Given the description of an element on the screen output the (x, y) to click on. 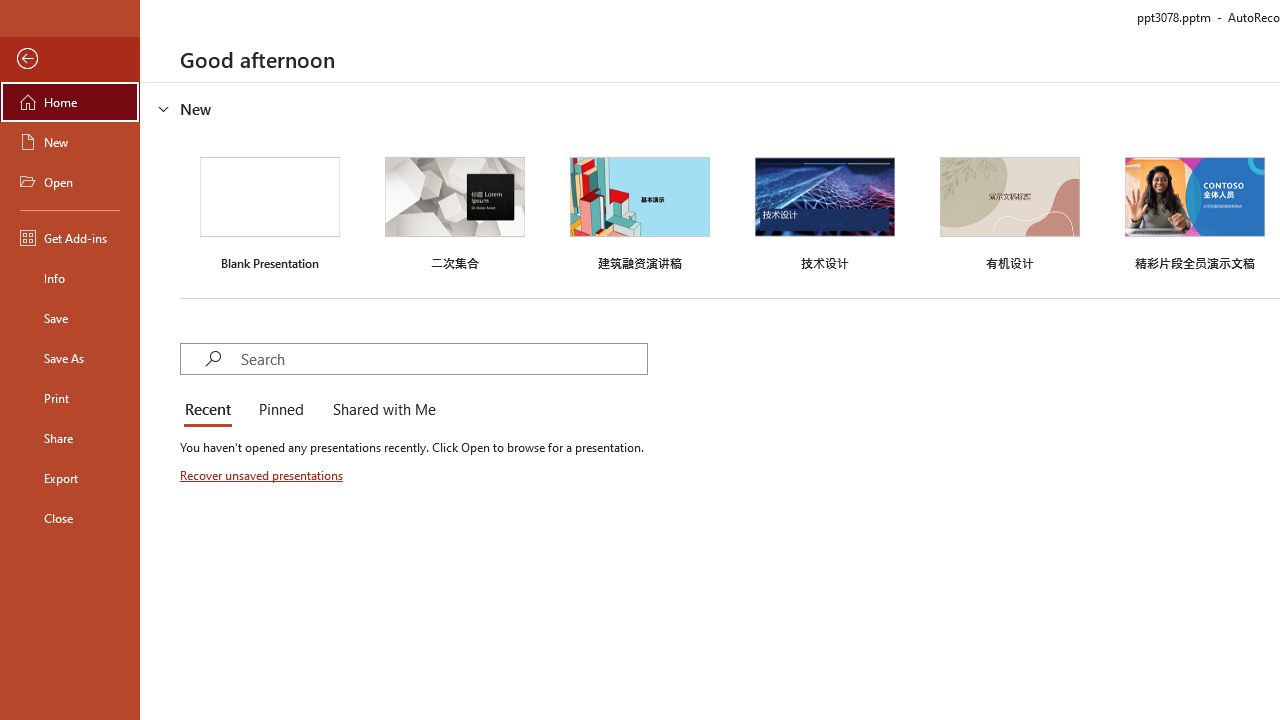
Get Add-ins (69, 237)
Pinned (280, 410)
Save As (69, 357)
Shared with Me (379, 410)
Recover unsaved presentations (263, 475)
